Given the description of an element on the screen output the (x, y) to click on. 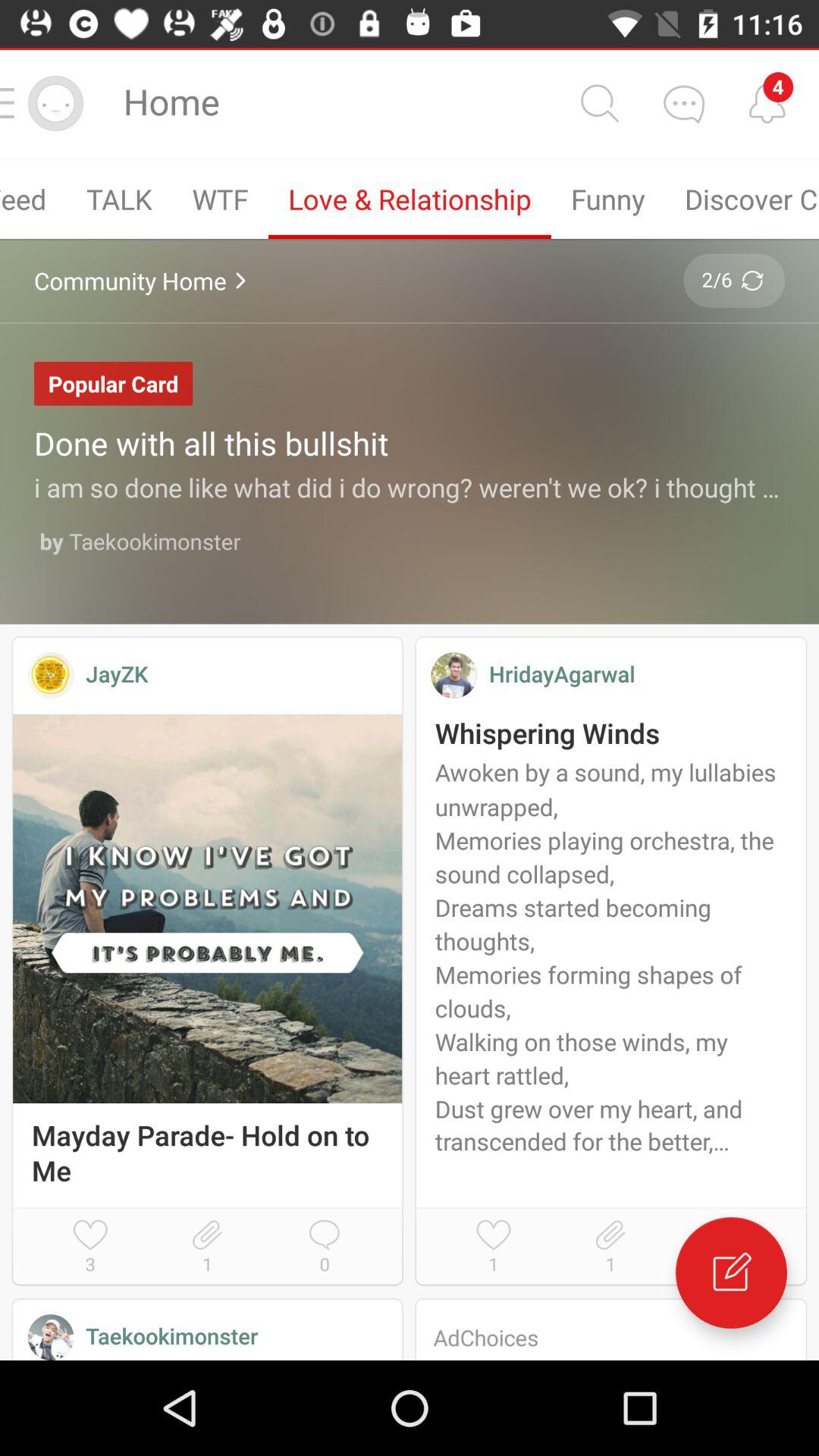
comment option (683, 103)
